Given the description of an element on the screen output the (x, y) to click on. 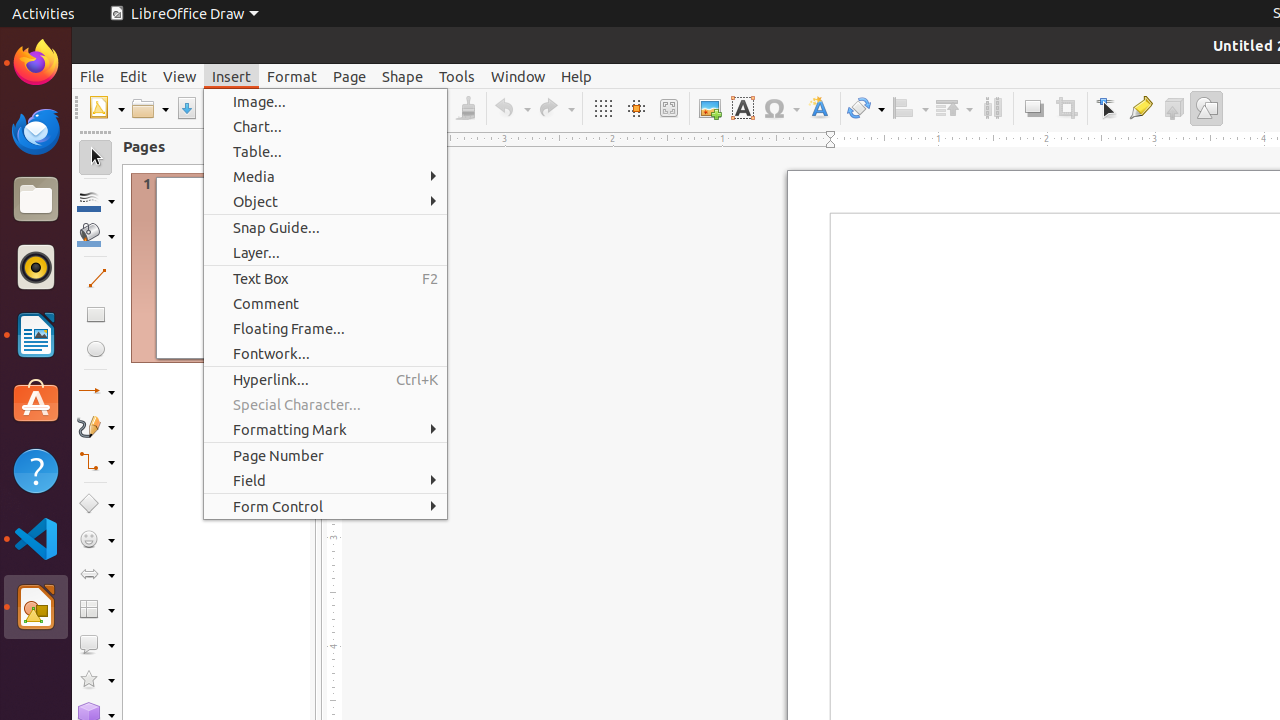
Open Element type: push-button (150, 108)
Rectangle Element type: push-button (95, 313)
Layer... Element type: menu-item (325, 252)
LibreOffice Writer Element type: push-button (36, 334)
Redo Element type: push-button (556, 108)
